Given the description of an element on the screen output the (x, y) to click on. 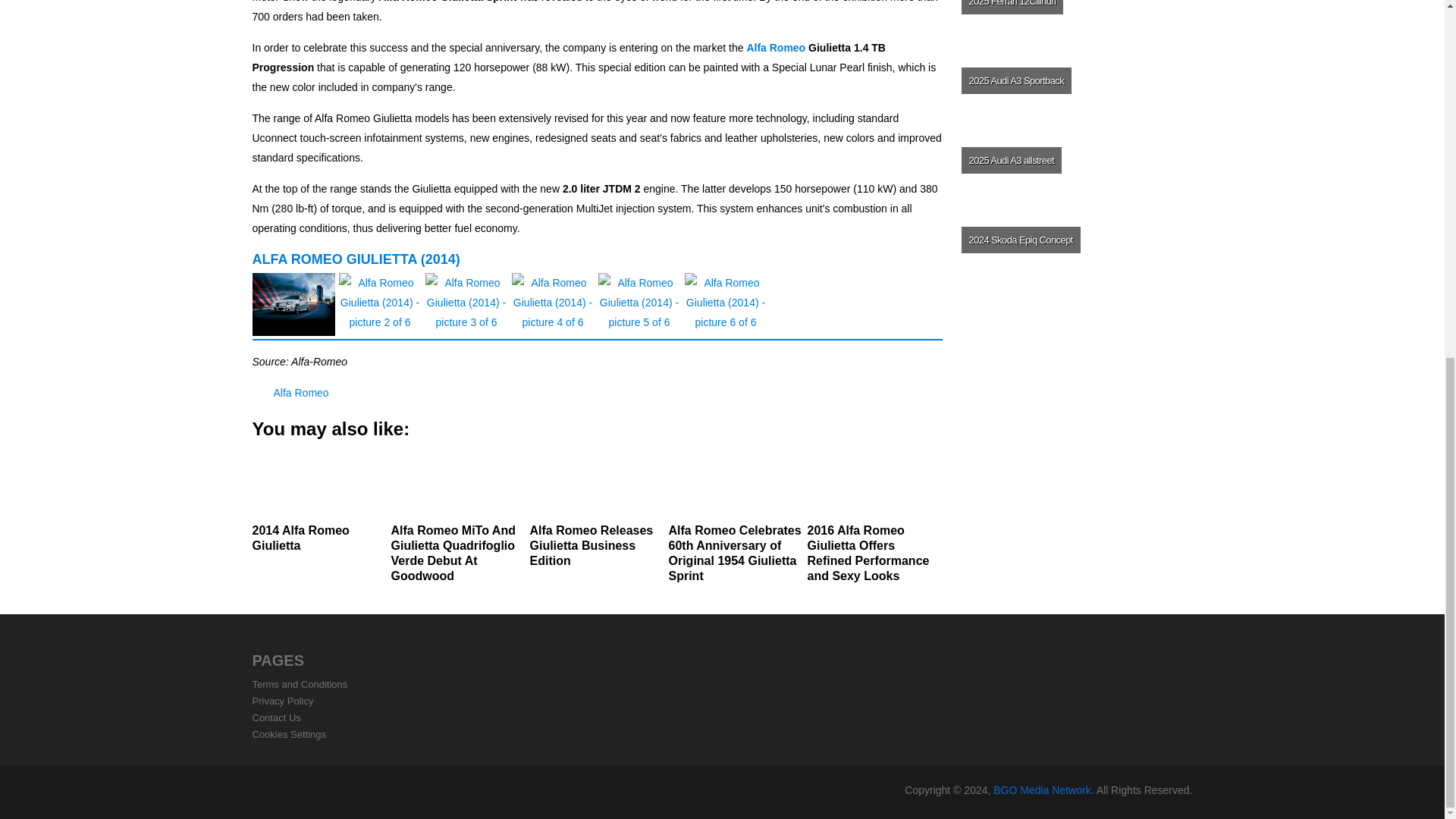
Alfa Romeo (301, 392)
Ferrari 12Cilindri (1074, 19)
2014 Alfa Romeo Giulietta (319, 502)
Skoda Epiq Concept (1074, 239)
Alfa Romeo (775, 47)
Terms and Conditions (299, 684)
Contact Us (275, 717)
Privacy Policy (282, 700)
Audi A3 allstreet (1074, 160)
Audi A3 Sportback (1074, 79)
Contact Us (275, 717)
Privacy Policy (282, 700)
Terms and Conditions (299, 684)
Alfa Romeo Releases Giulietta Business Edition (596, 509)
